Given the description of an element on the screen output the (x, y) to click on. 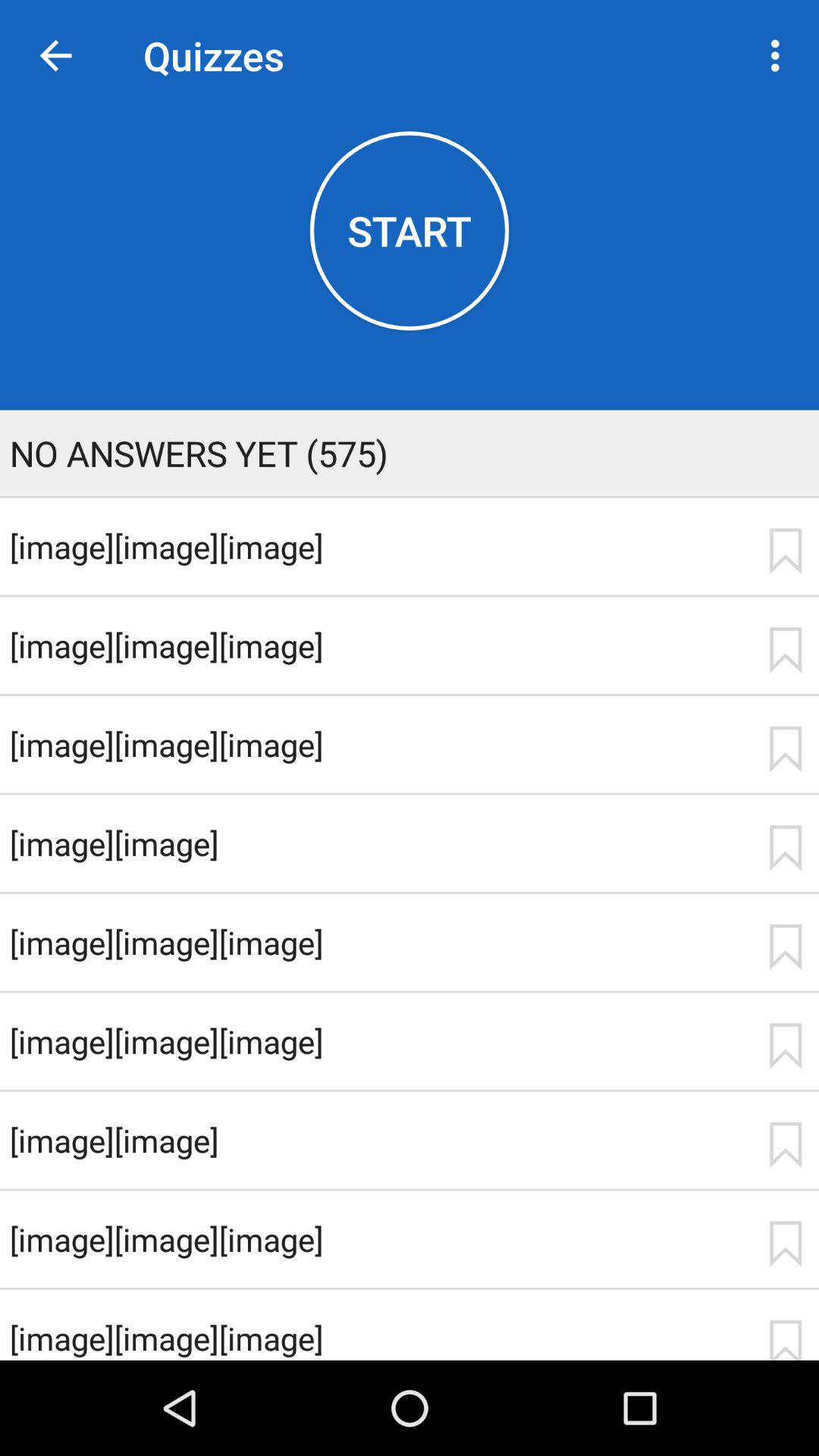
launch icon next to the quizzes icon (779, 55)
